Given the description of an element on the screen output the (x, y) to click on. 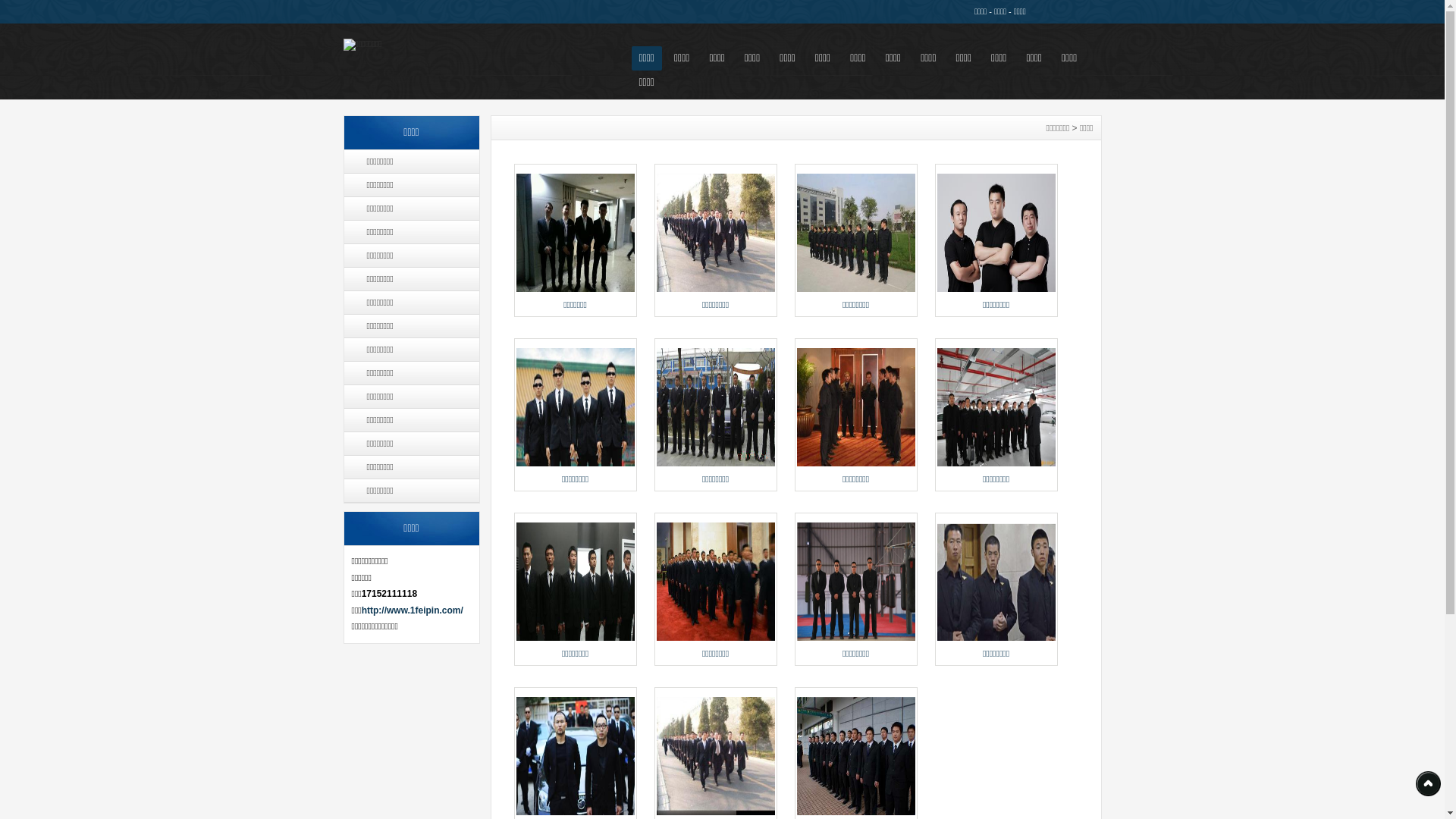
http://www.1feipin.com/ Element type: text (412, 610)
